Given the description of an element on the screen output the (x, y) to click on. 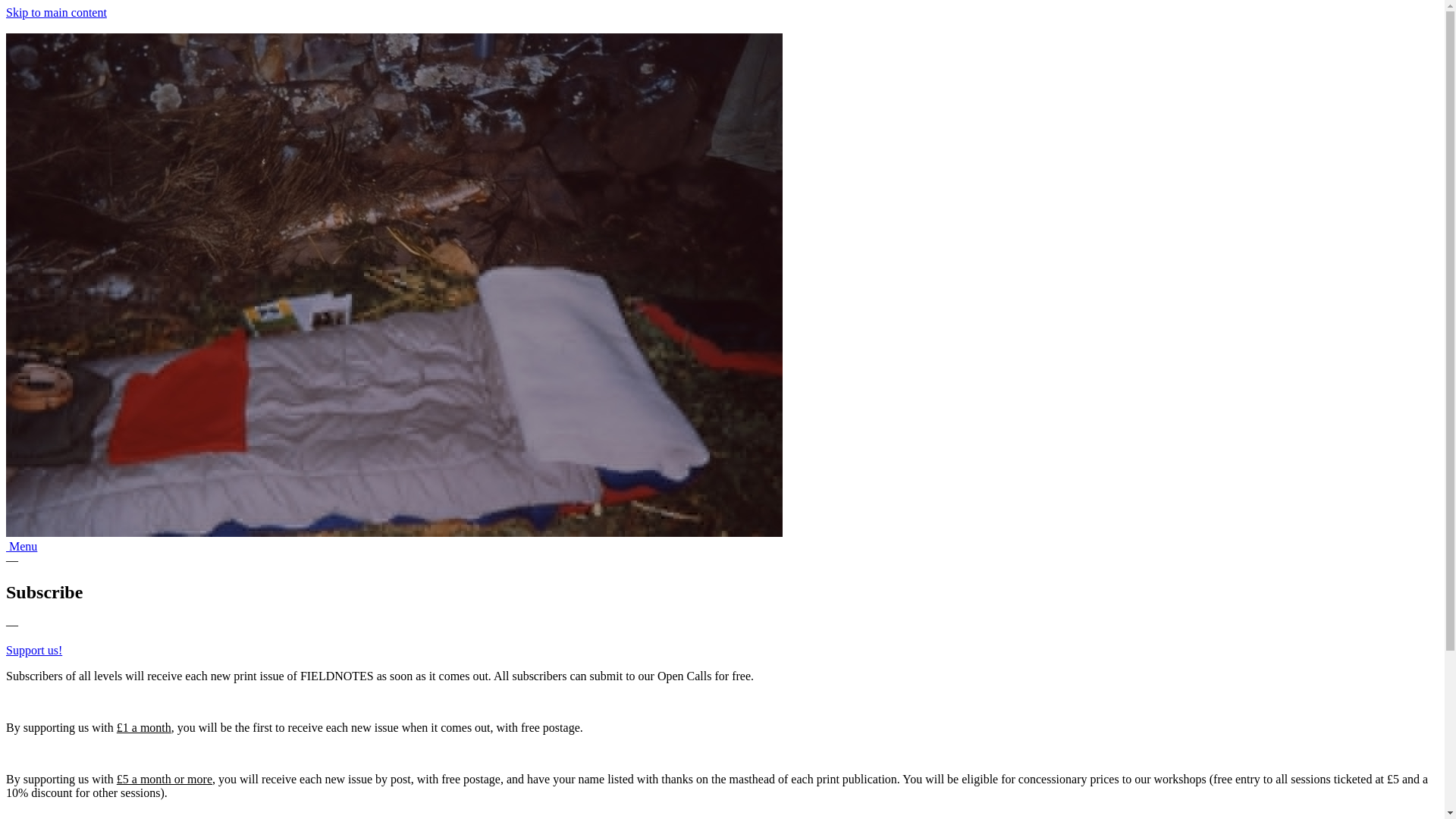
Menu (21, 545)
Support us! (33, 649)
Skip to main content (55, 11)
